Given the description of an element on the screen output the (x, y) to click on. 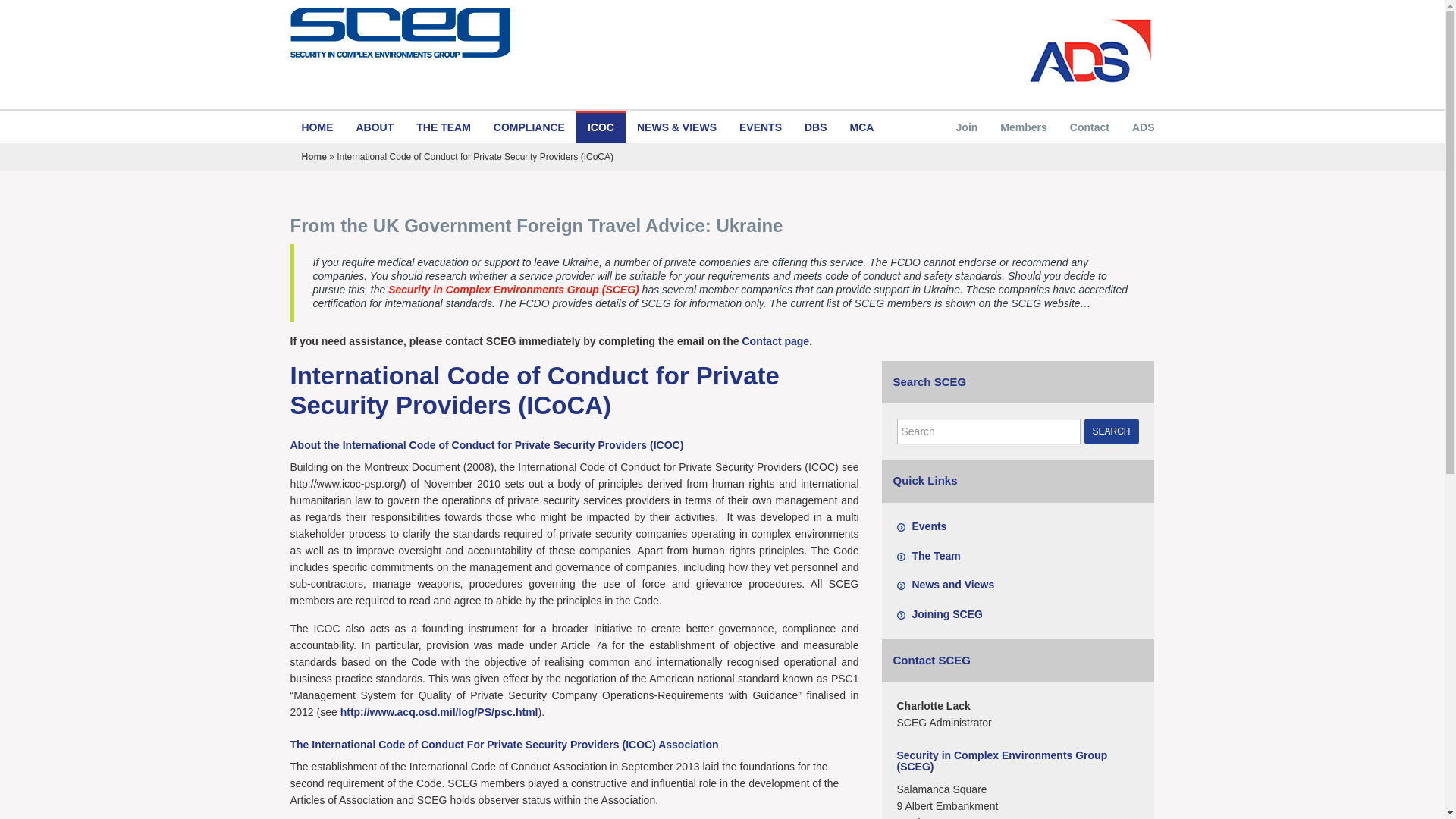
ICOC (601, 126)
HOME (316, 126)
MCA (861, 126)
Members (1023, 126)
Contact page (775, 340)
SEARCH (1111, 431)
Joining SCEG (946, 613)
THE TEAM (442, 126)
News and Views (952, 584)
Home (313, 156)
SCEG UK (499, 32)
Join (967, 126)
ADS (1143, 126)
EVENTS (760, 126)
Events (928, 526)
